Given the description of an element on the screen output the (x, y) to click on. 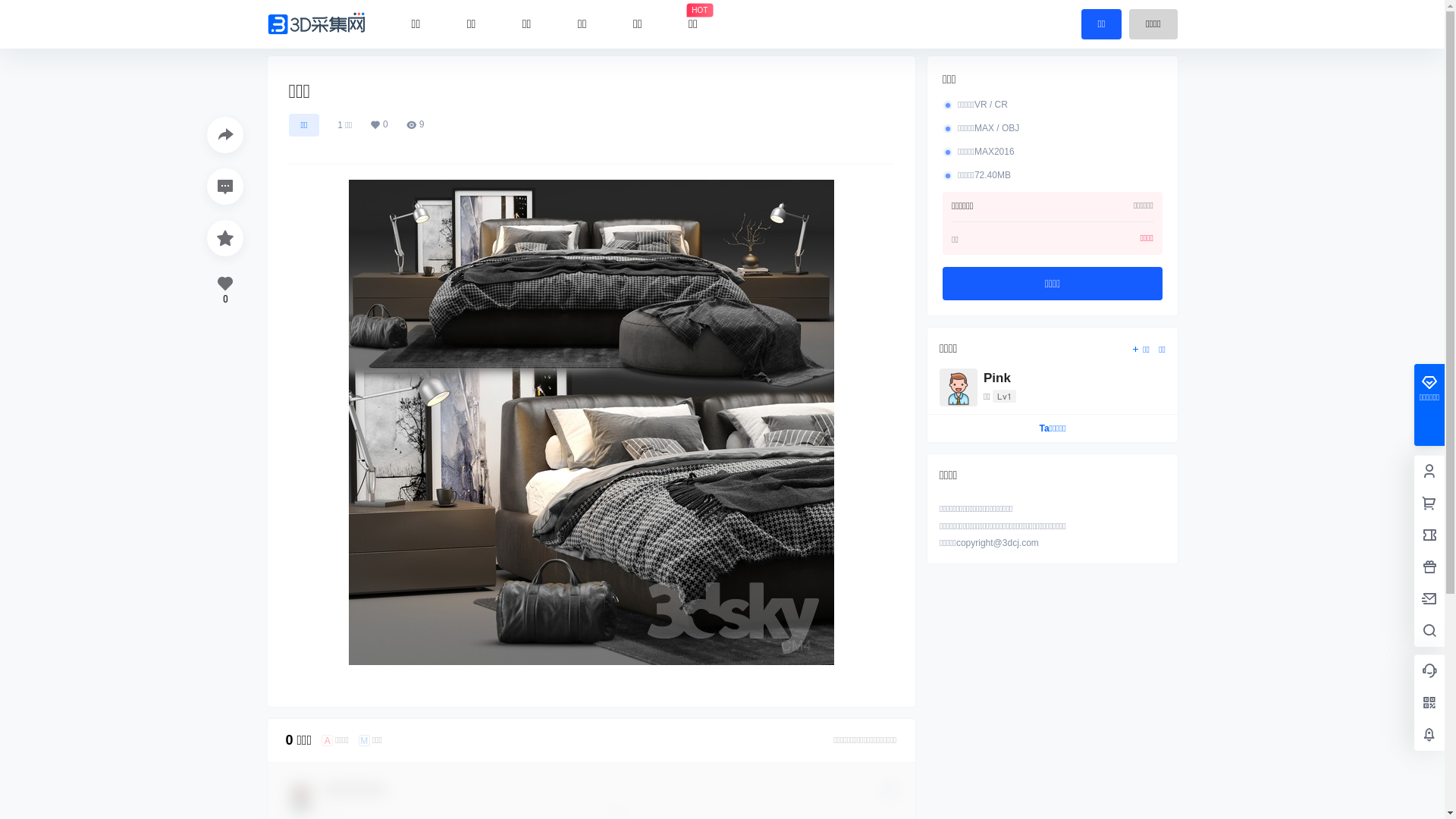
ok Element type: text (10, 10)
